Given the description of an element on the screen output the (x, y) to click on. 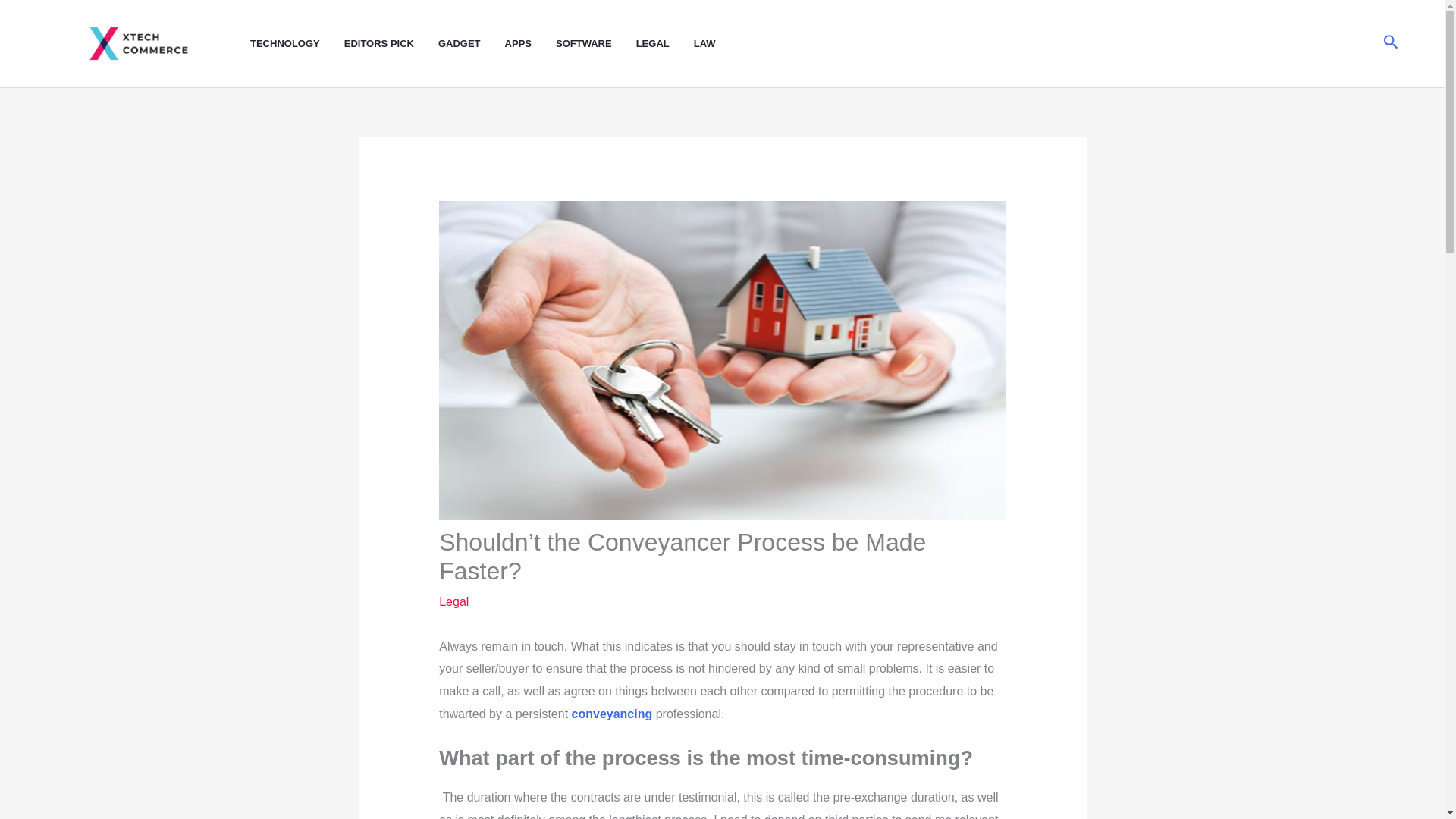
Legal (453, 601)
EDITORS PICK (390, 43)
conveyancing (612, 713)
TECHNOLOGY (296, 43)
SOFTWARE (596, 43)
